Given the description of an element on the screen output the (x, y) to click on. 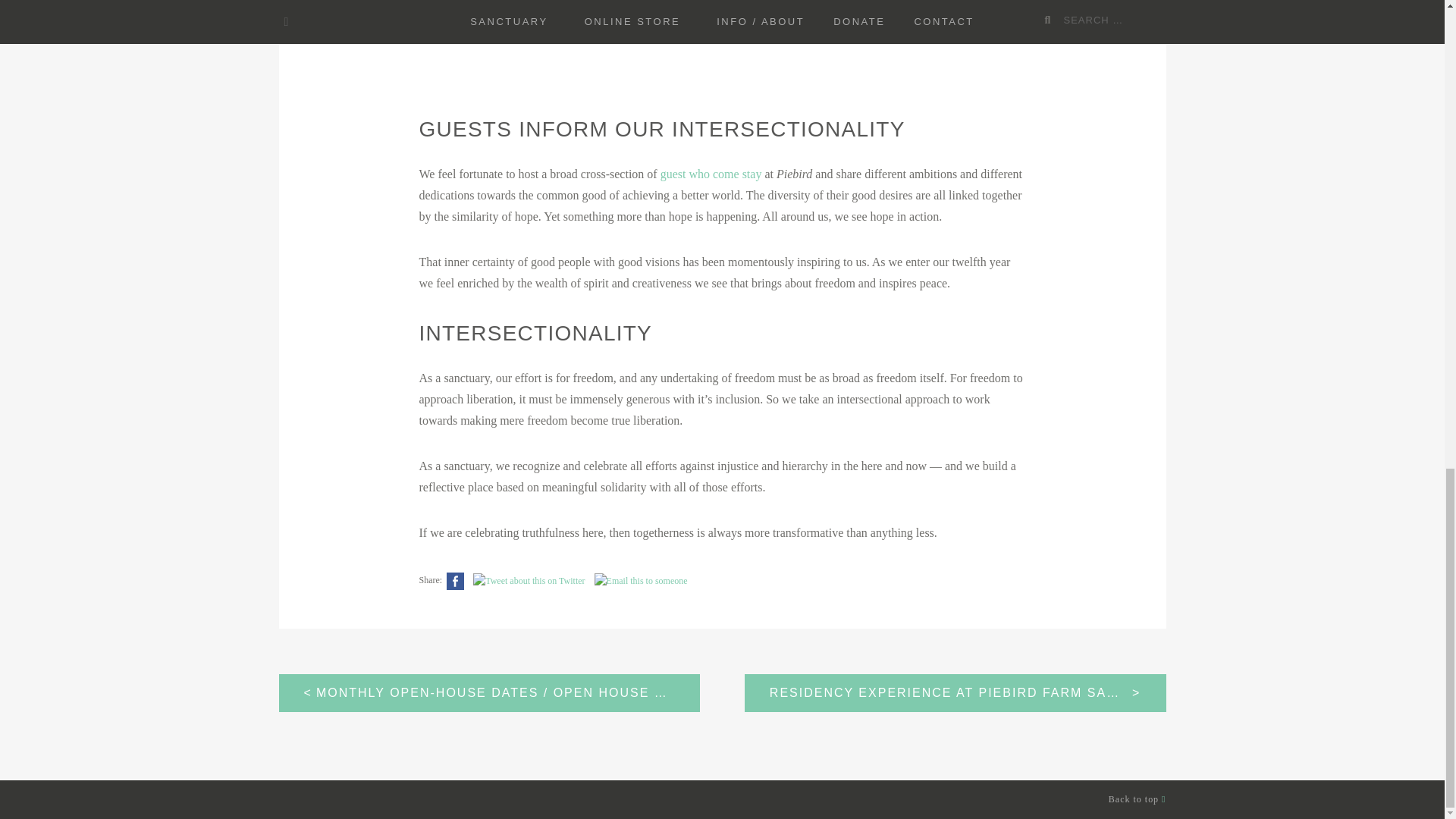
Back to top (1137, 798)
Twitter (528, 580)
guest who come stay (711, 173)
Email (641, 580)
Facebook (455, 581)
